Given the description of an element on the screen output the (x, y) to click on. 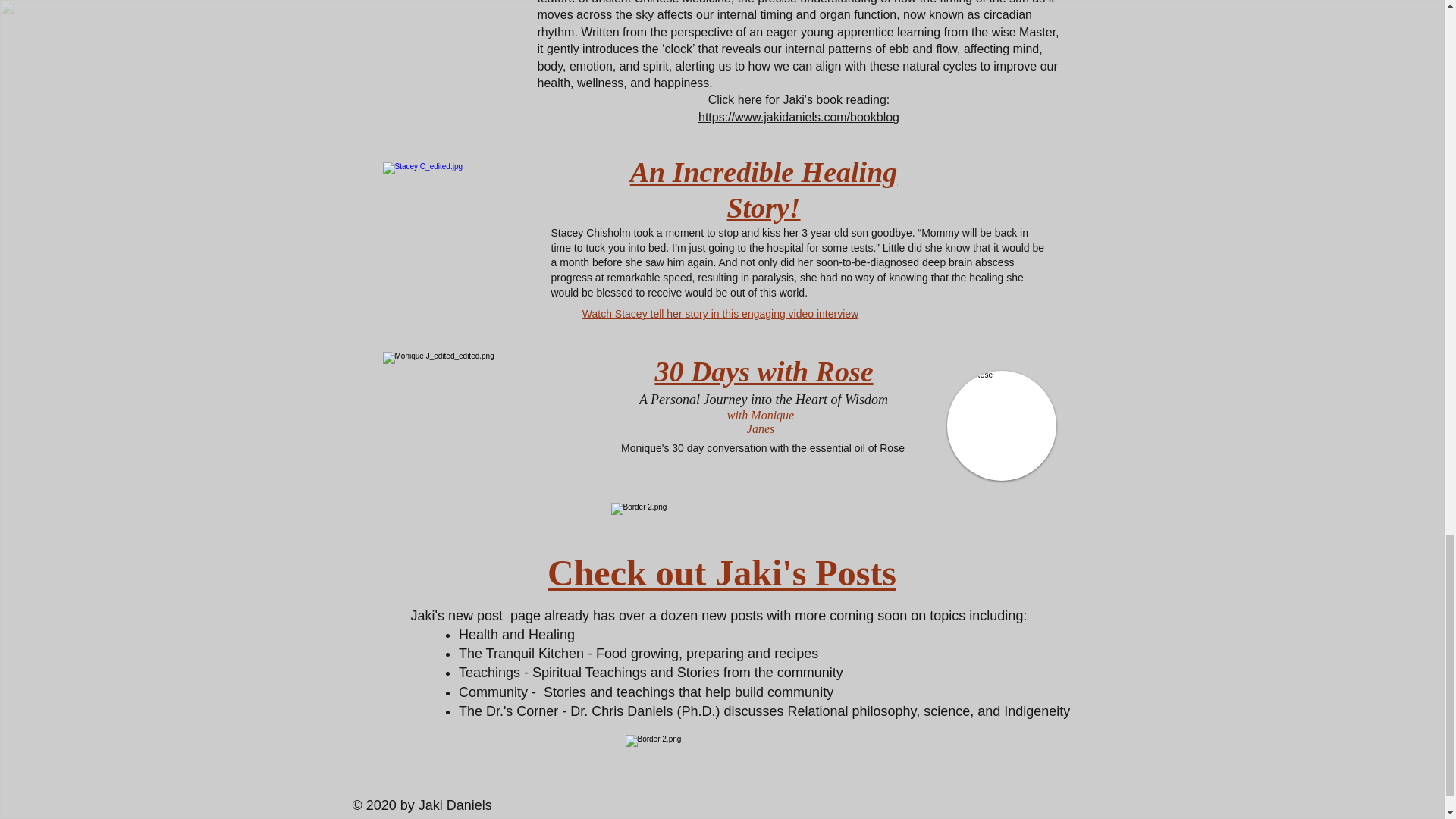
Monique's 30 day conversation with the essential oil of Rose (762, 448)
Watch Stacey tell her story in this engaging video interview (720, 313)
30 Days with Rose (762, 371)
An Incredible Healing Story! (764, 190)
Check out Jaki's Posts (721, 572)
